Given the description of an element on the screen output the (x, y) to click on. 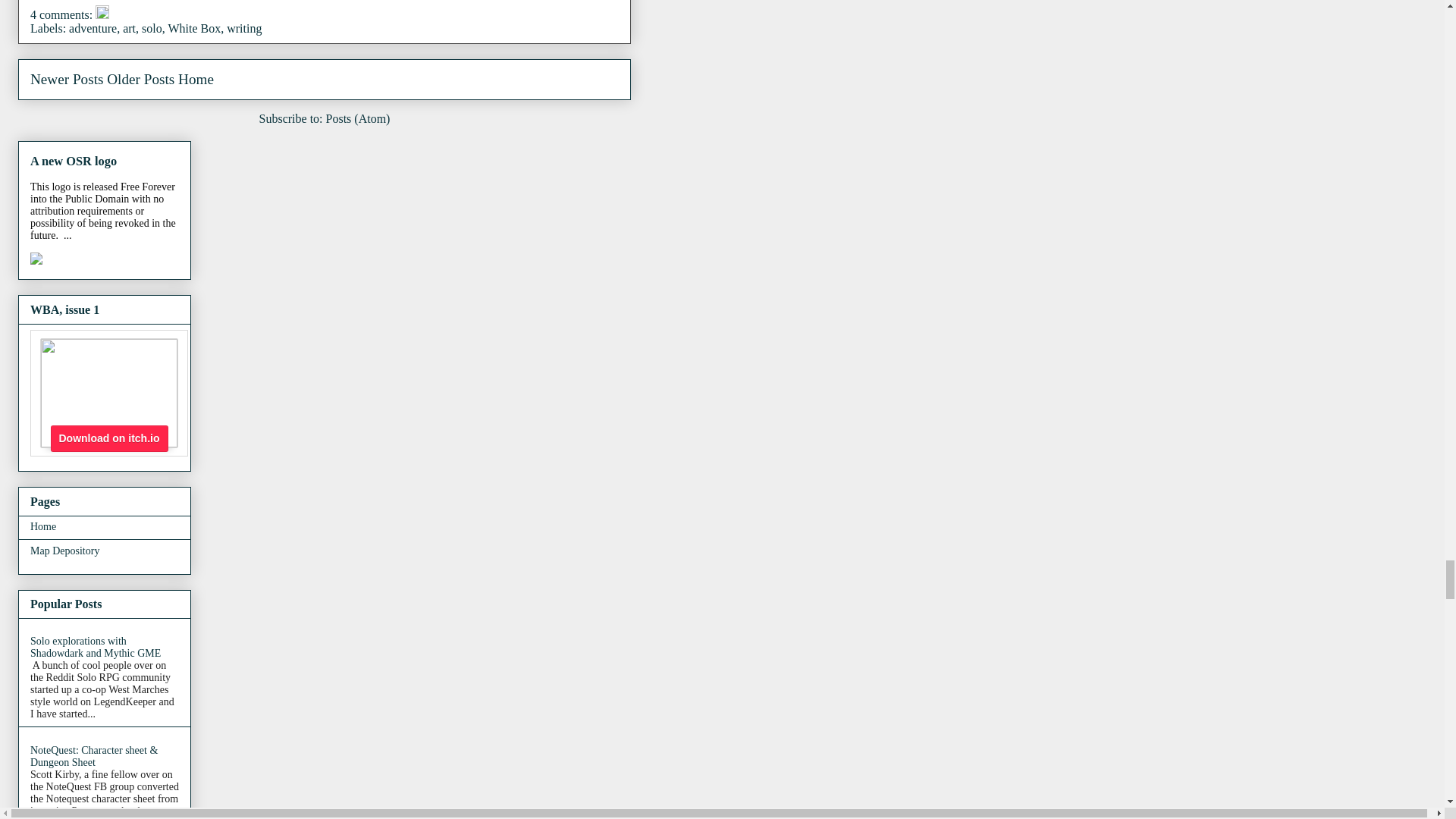
Newer Posts (66, 78)
Edit Post (102, 14)
Older Posts (140, 78)
